Given the description of an element on the screen output the (x, y) to click on. 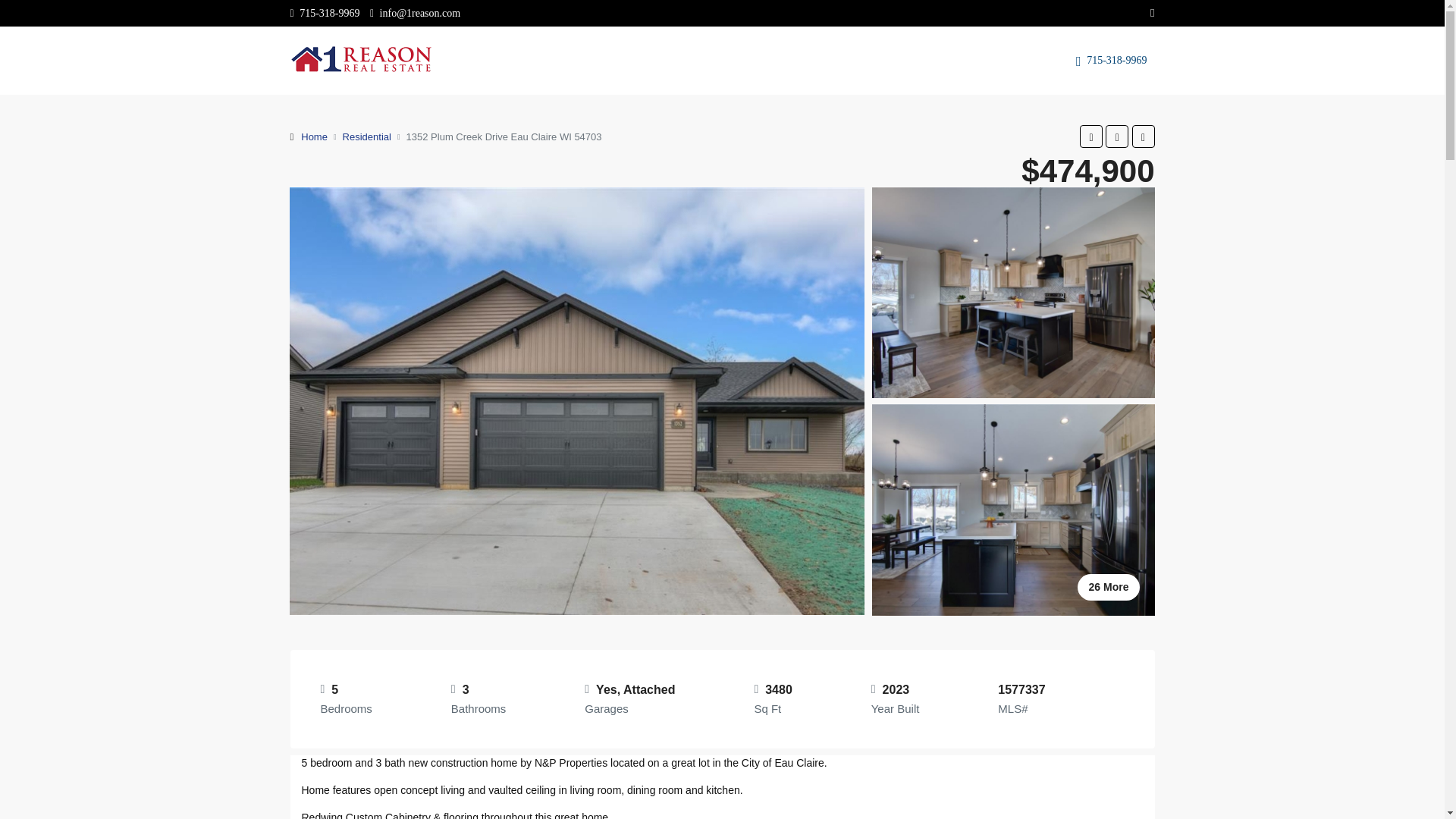
715-318-9969 (1114, 59)
Home (314, 136)
26 More (1014, 509)
715-318-9969 (324, 12)
Residential (366, 136)
